Given the description of an element on the screen output the (x, y) to click on. 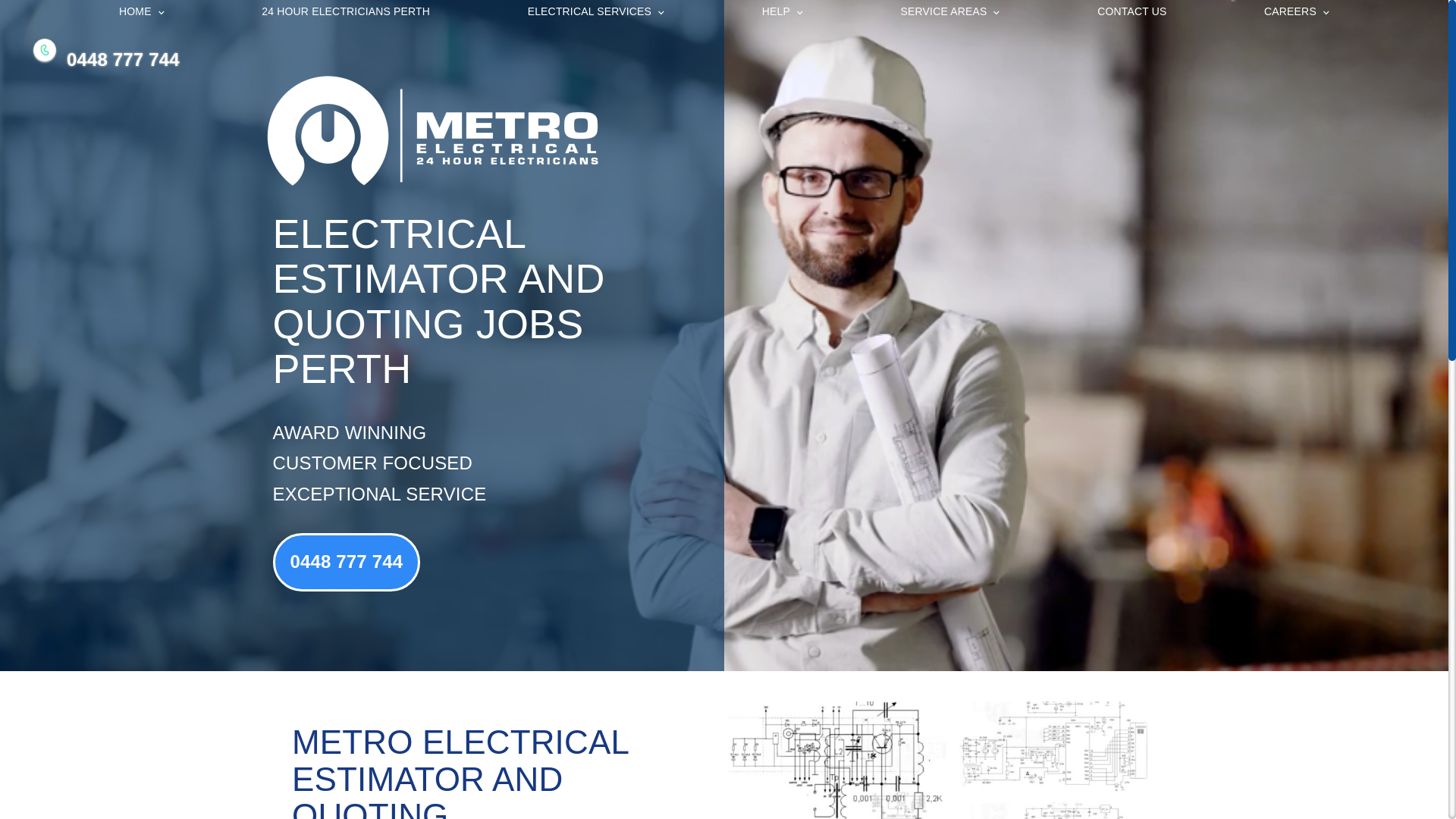
SERVICE AREAS Element type: text (949, 10)
24 HOUR ELECTRICIANS PERTH Element type: text (346, 10)
0448 777 744 Element type: text (346, 562)
CAREERS Element type: text (1296, 10)
HOME Element type: text (140, 10)
HELP Element type: text (782, 10)
ELECTRICAL SERVICES Element type: text (595, 10)
0448 777 744 Element type: text (122, 59)
CONTACT US Element type: text (1132, 10)
